Given the description of an element on the screen output the (x, y) to click on. 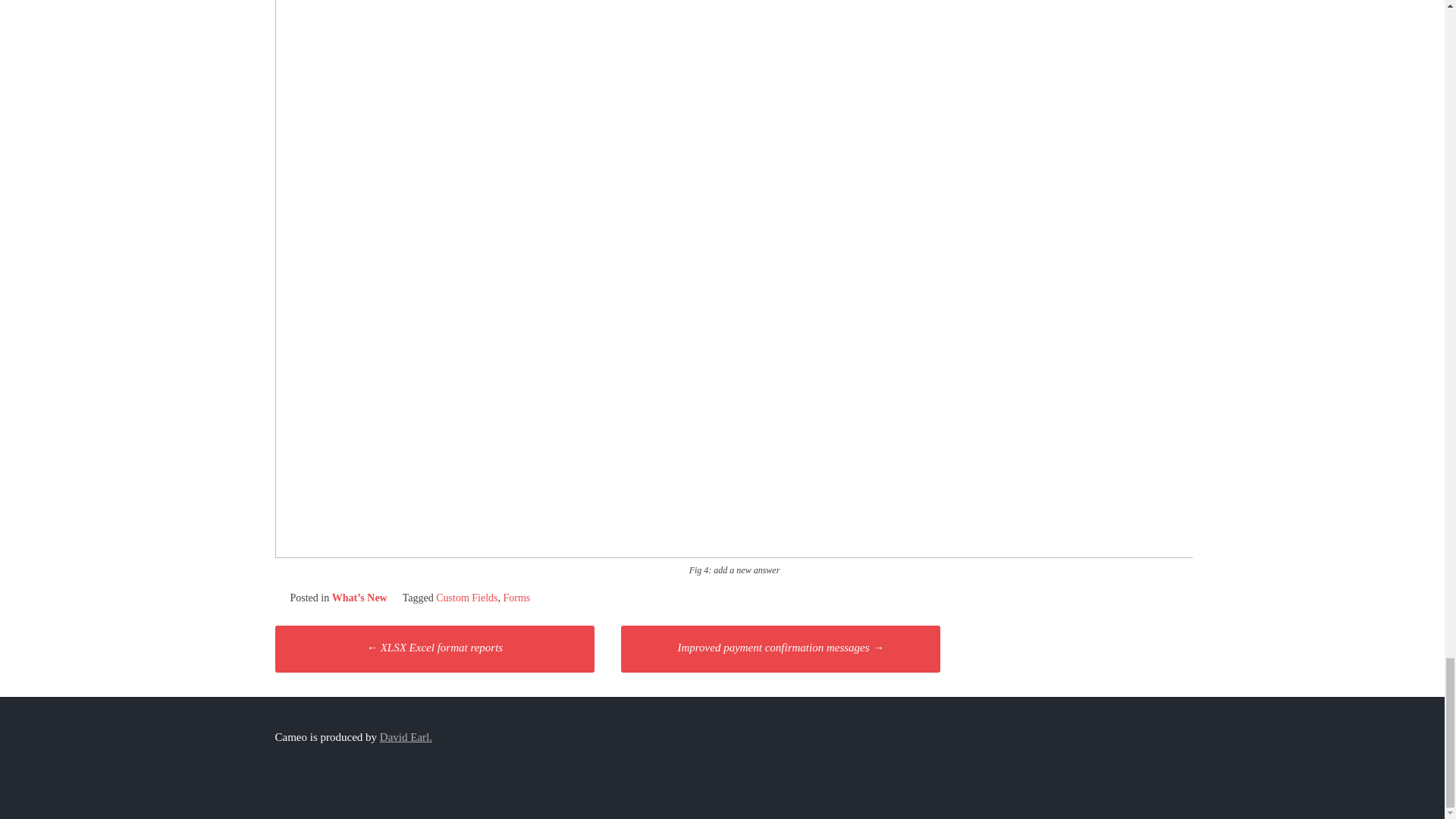
Custom Fields (466, 597)
Forms (517, 597)
